Given the description of an element on the screen output the (x, y) to click on. 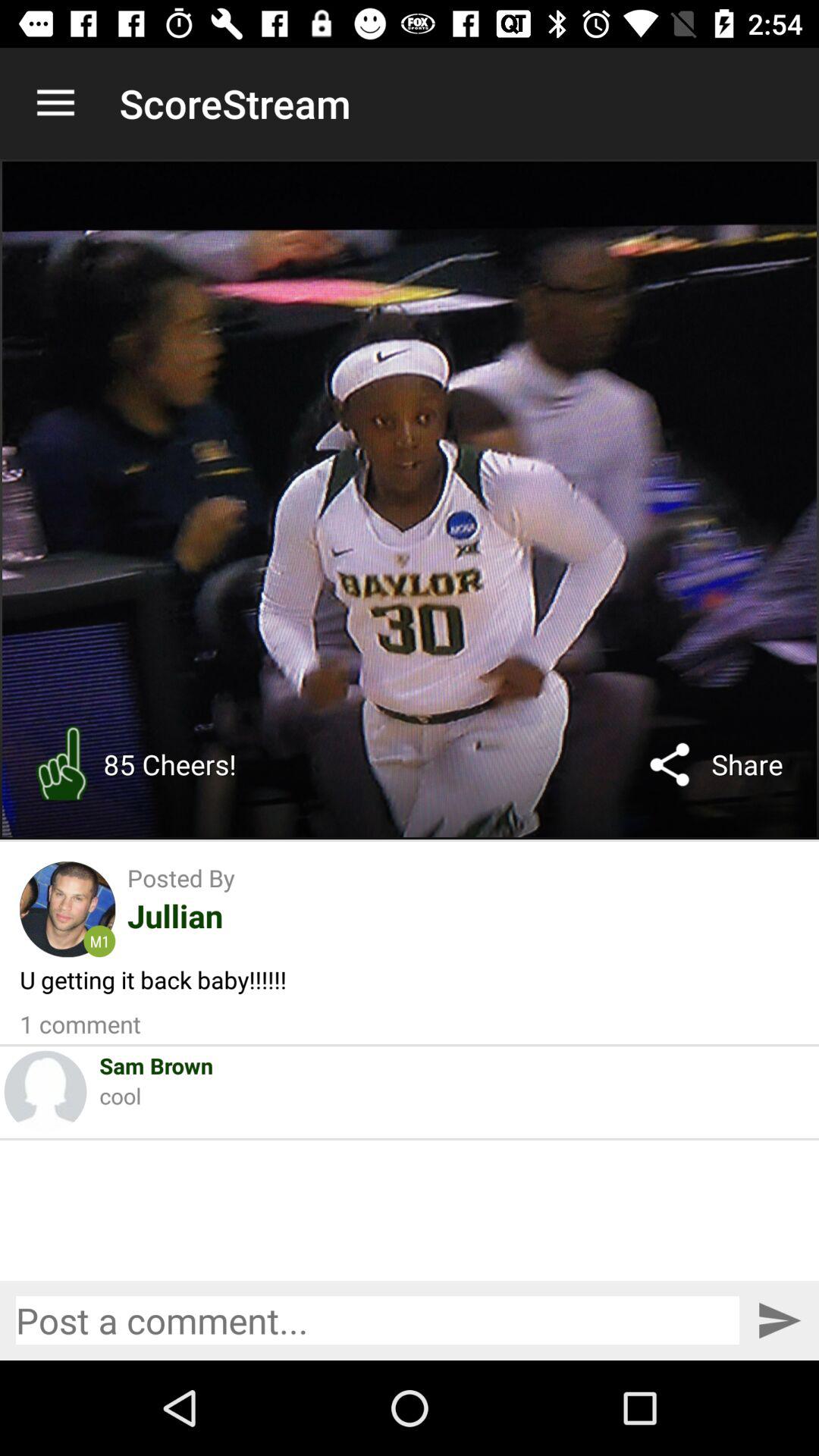
select the cool icon (120, 1095)
